Given the description of an element on the screen output the (x, y) to click on. 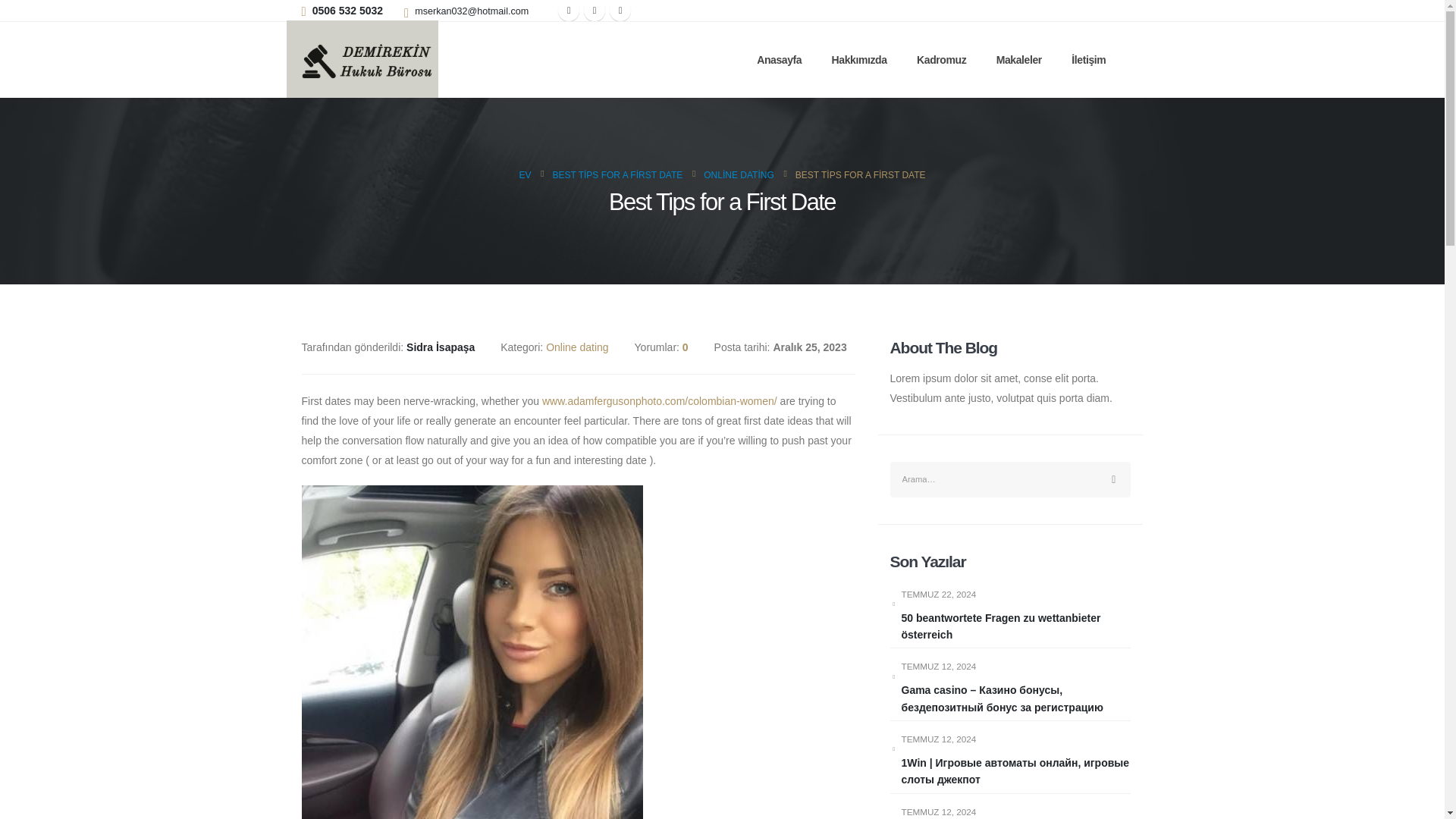
Online dating (577, 346)
0506 532 5032 (347, 10)
Anasayfa (778, 59)
Facebook (568, 10)
ONLINE DATING (738, 175)
Instagram (620, 10)
Kadromuz (941, 59)
Twitter (594, 10)
Makaleler (1019, 59)
BEST TIPS FOR A FIRST DATE (616, 175)
